Given the description of an element on the screen output the (x, y) to click on. 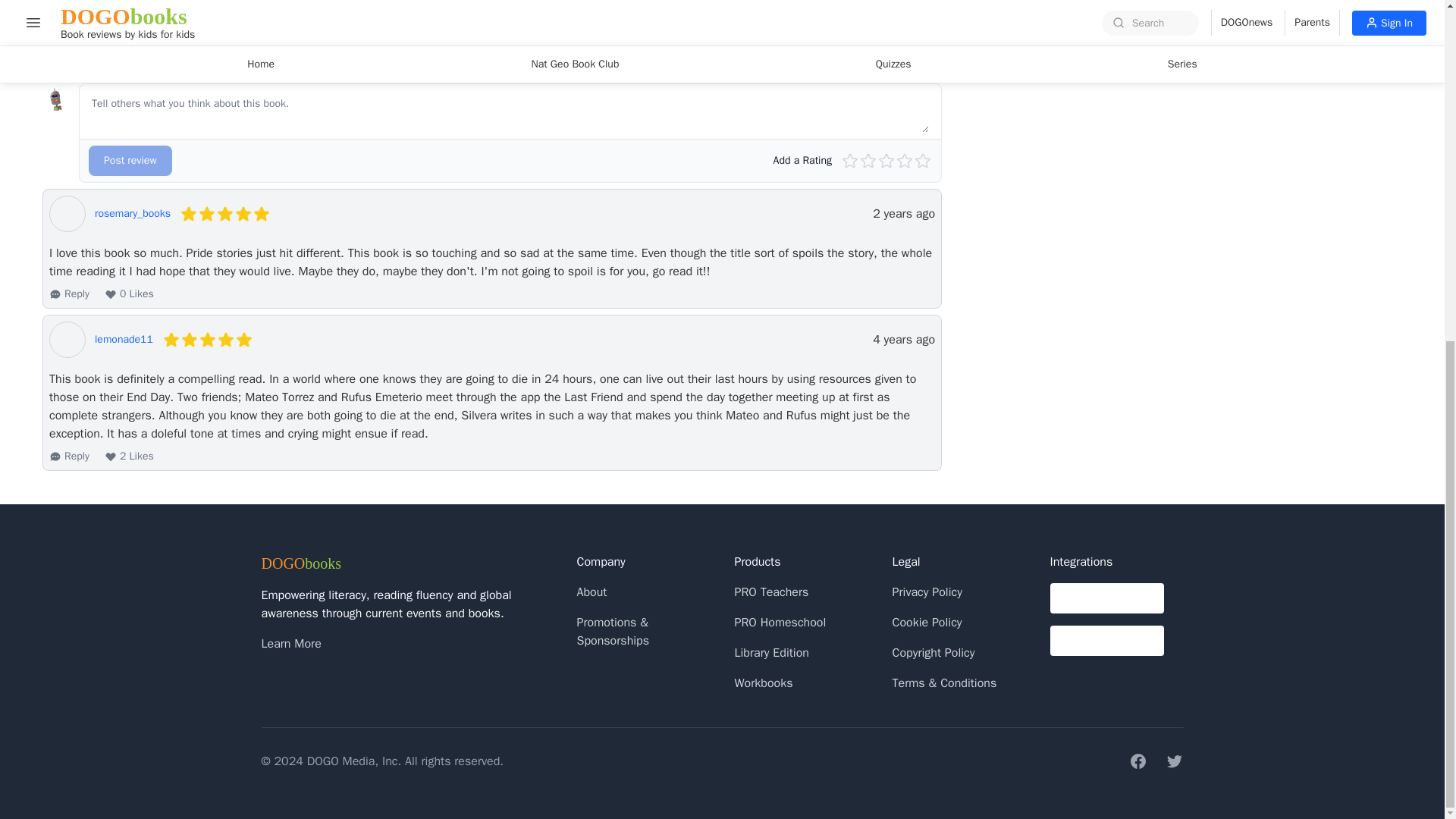
Learn More (290, 643)
Reply (68, 294)
January 17, 2023 (903, 213)
PRO Homeschool (779, 622)
About (591, 591)
0 Likes (129, 294)
lemonade11 (123, 339)
PRO Teachers (770, 591)
Reply (68, 456)
2 Likes (129, 456)
